Given the description of an element on the screen output the (x, y) to click on. 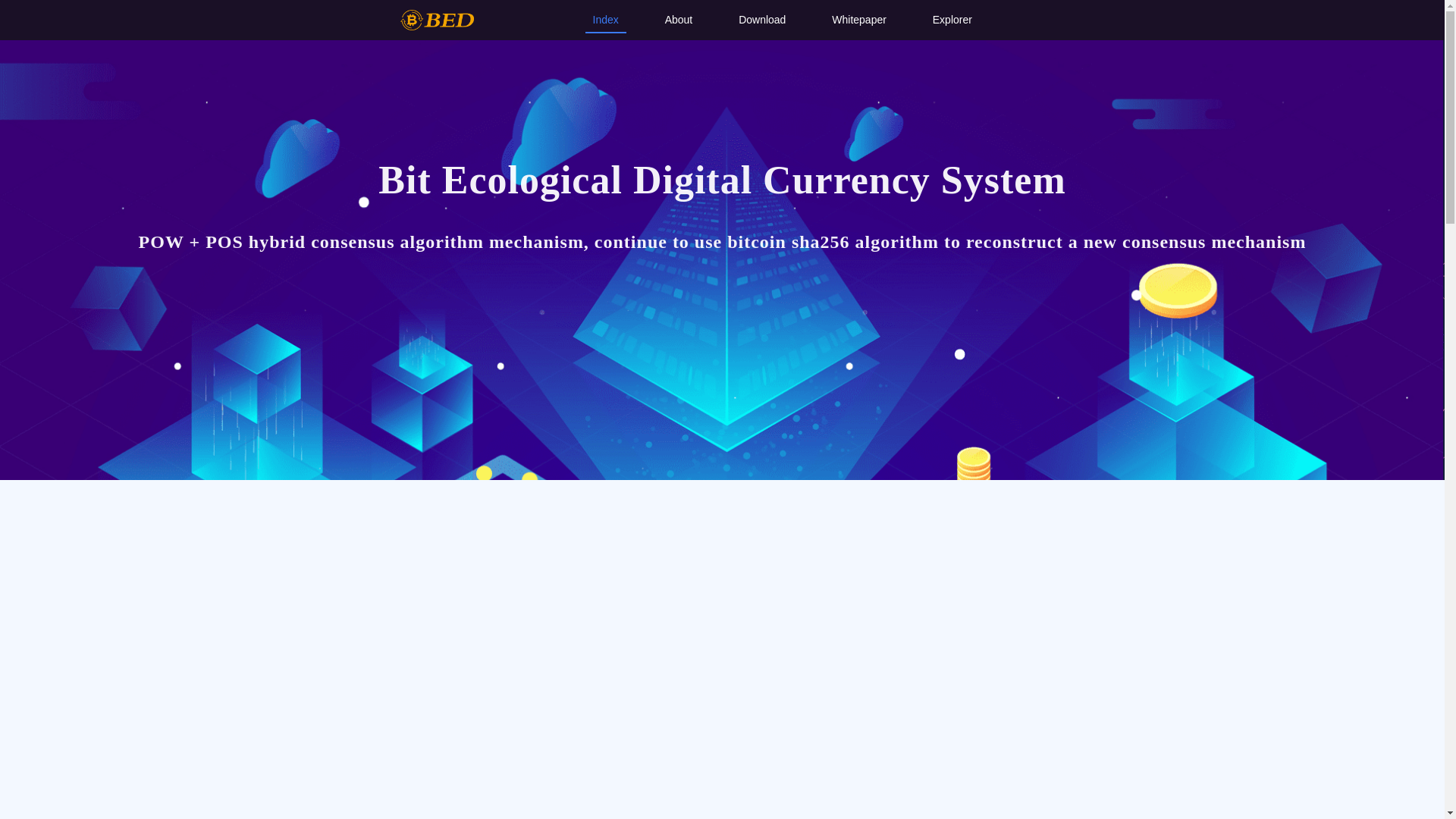
About Element type: text (678, 19)
Index Element type: text (605, 19)
Whitepaper Element type: text (859, 19)
Download Element type: text (762, 19)
Explorer Element type: text (952, 19)
